Given the description of an element on the screen output the (x, y) to click on. 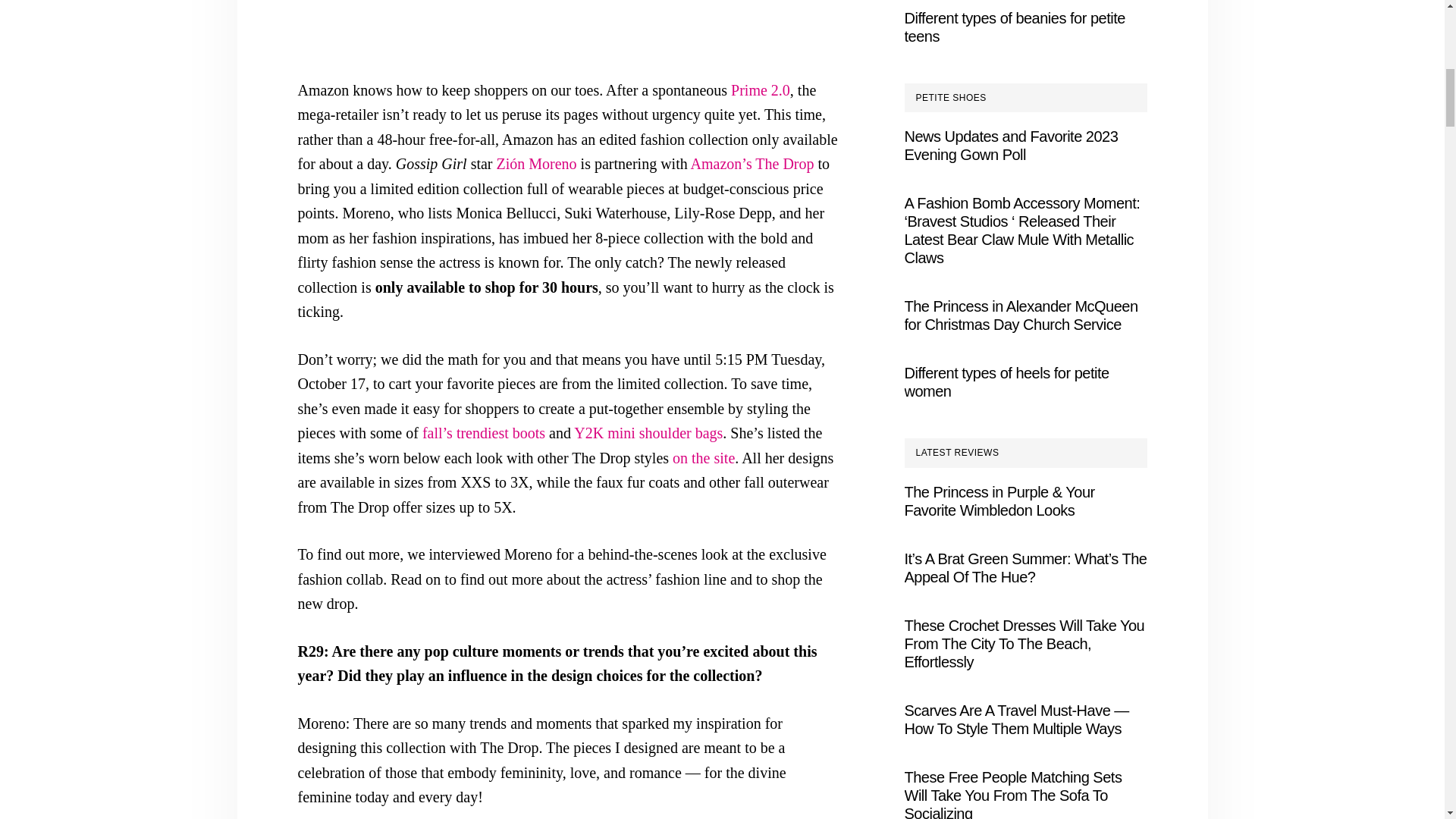
Prime 2.0 (760, 89)
Y2K mini shoulder bags (647, 433)
on the site (703, 457)
